Given the description of an element on the screen output the (x, y) to click on. 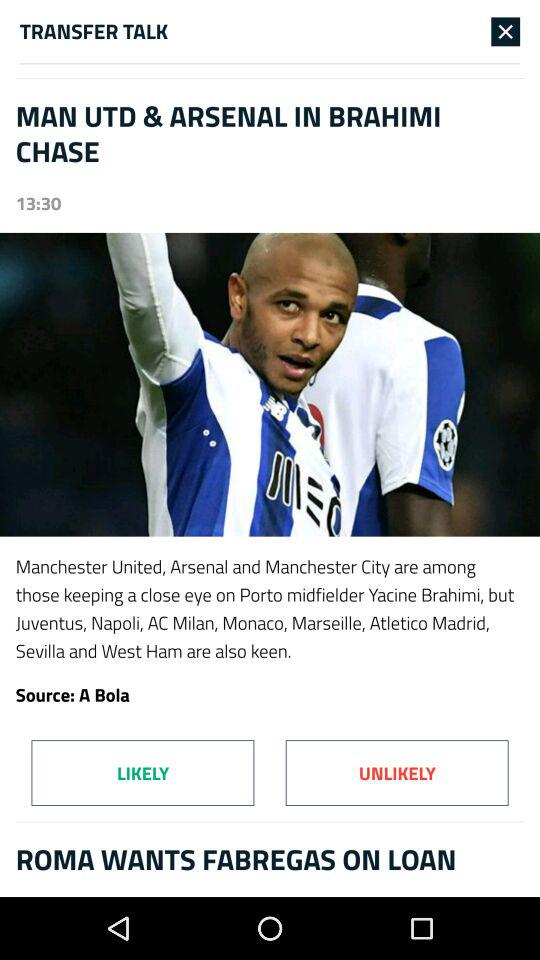
press the unlikely at the bottom right corner (396, 772)
